Given the description of an element on the screen output the (x, y) to click on. 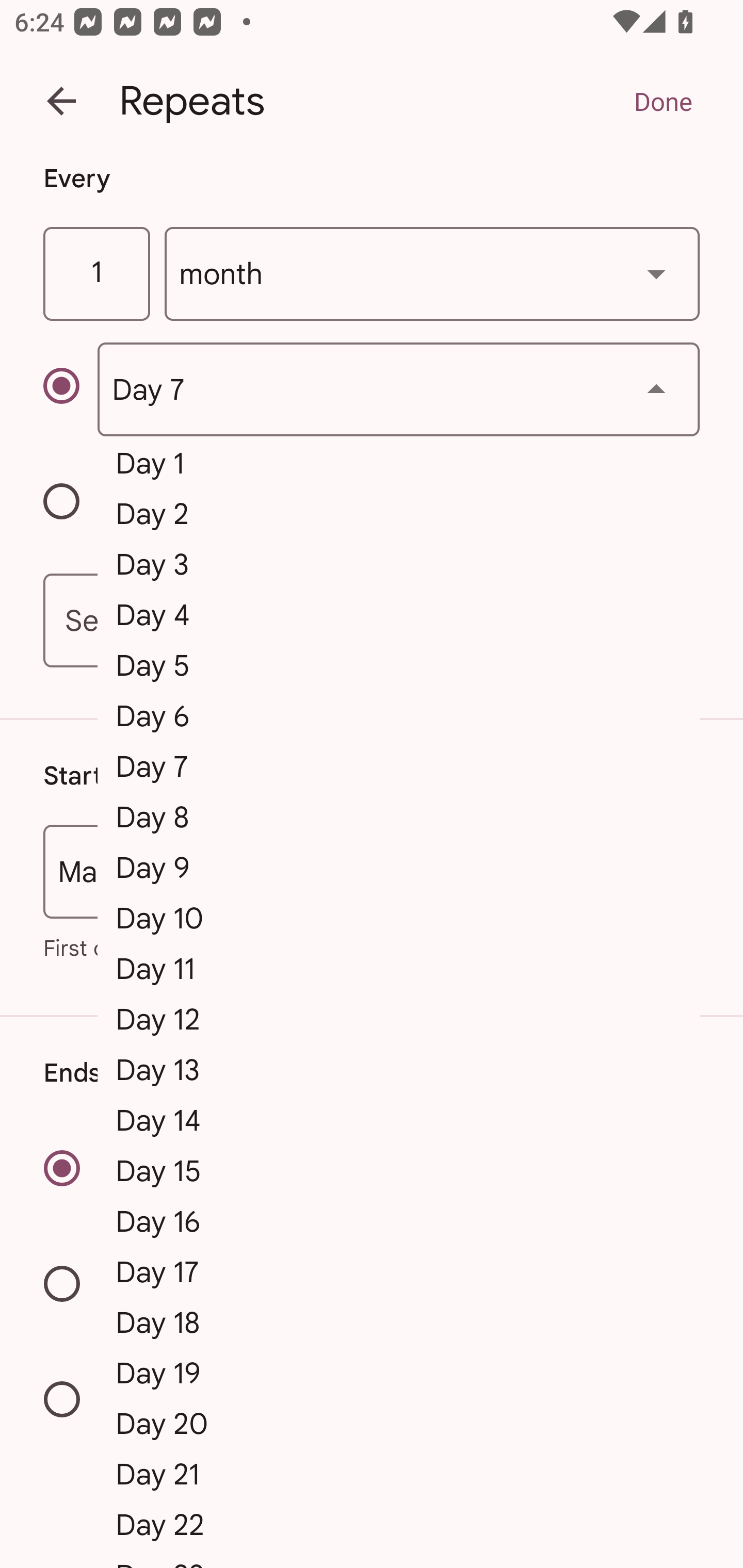
Back (61, 101)
Done (663, 101)
1 (96, 274)
month (431, 274)
Show dropdown menu (655, 273)
Day 7 (398, 388)
Show dropdown menu (655, 389)
Repeat monthly on a specific day of the month (70, 389)
Repeat monthly on a specific weekday (70, 504)
